Given the description of an element on the screen output the (x, y) to click on. 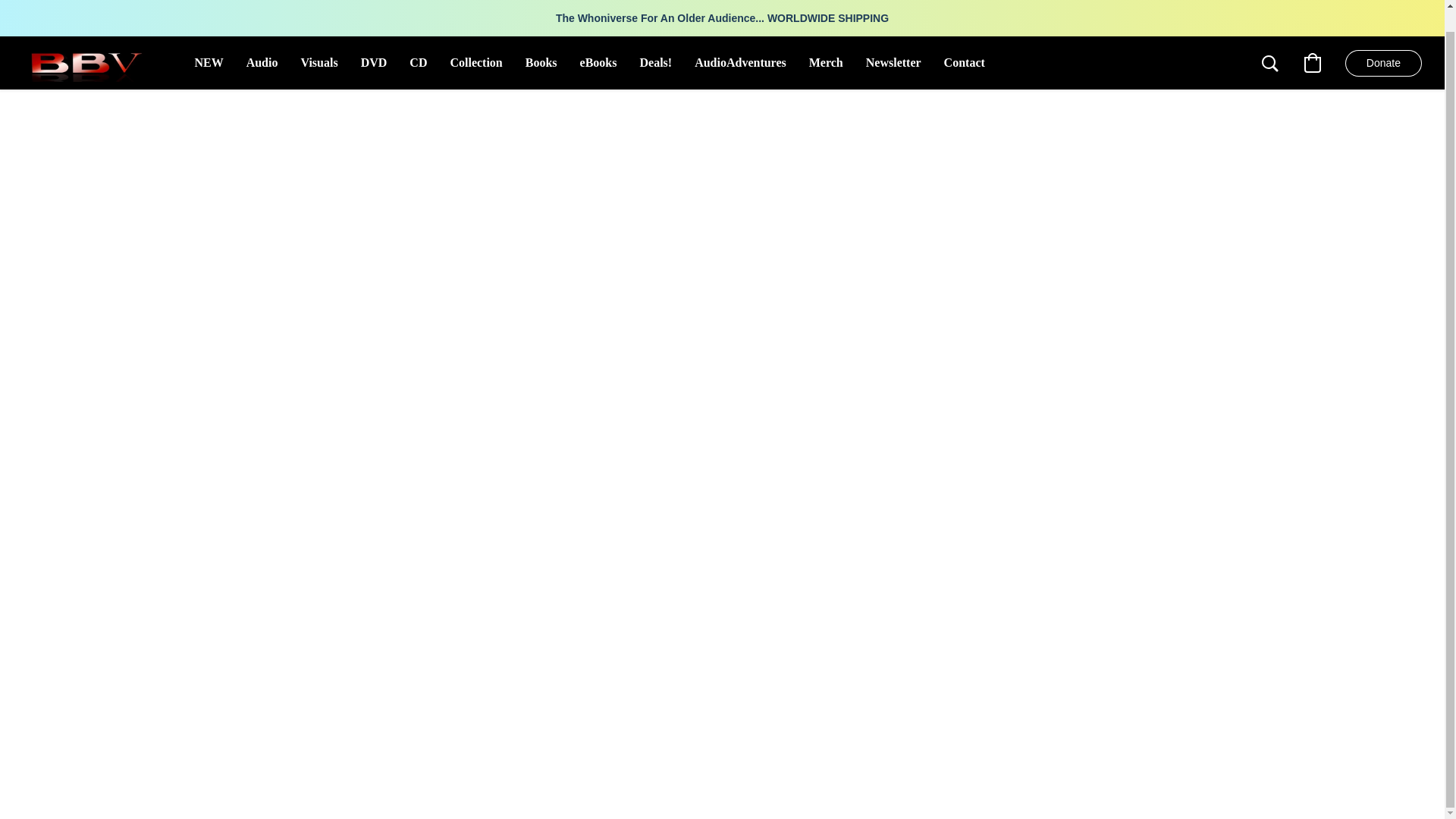
CD (417, 62)
Contact (964, 62)
Collection (475, 62)
eBooks (598, 62)
Audio (261, 62)
AudioAdventures (739, 62)
Search the website (1270, 62)
Visuals (318, 62)
NEW (208, 62)
Books (541, 62)
